Given the description of an element on the screen output the (x, y) to click on. 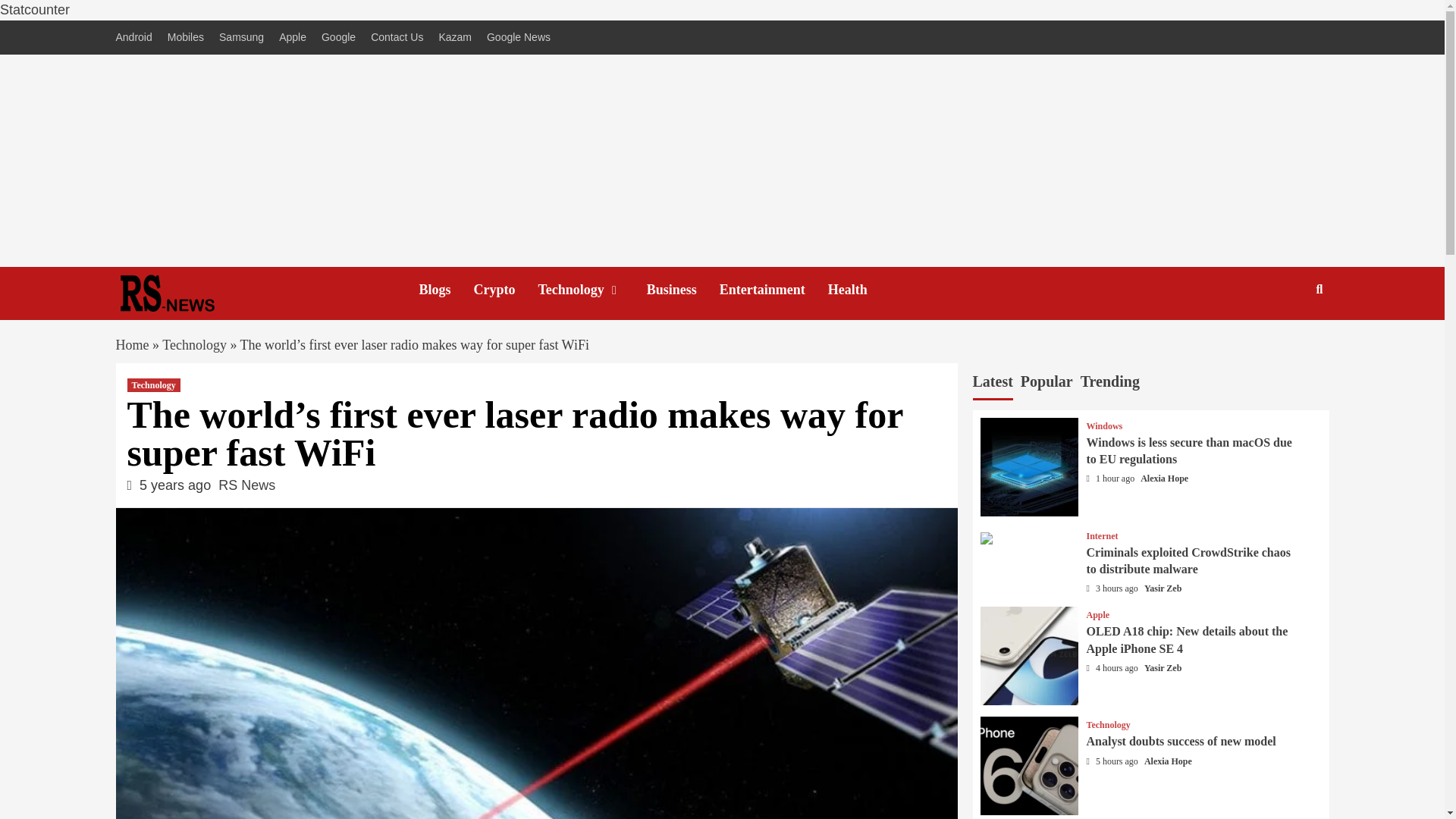
Contact Us (396, 37)
Home (131, 344)
Blogs (446, 289)
Kazam (454, 37)
Business (682, 289)
Google (338, 37)
Health (858, 289)
Crypto (506, 289)
Android (136, 37)
Entertainment (773, 289)
Mobiles (185, 37)
Search (1283, 338)
RS News (246, 485)
Statcounter (34, 9)
